Given the description of an element on the screen output the (x, y) to click on. 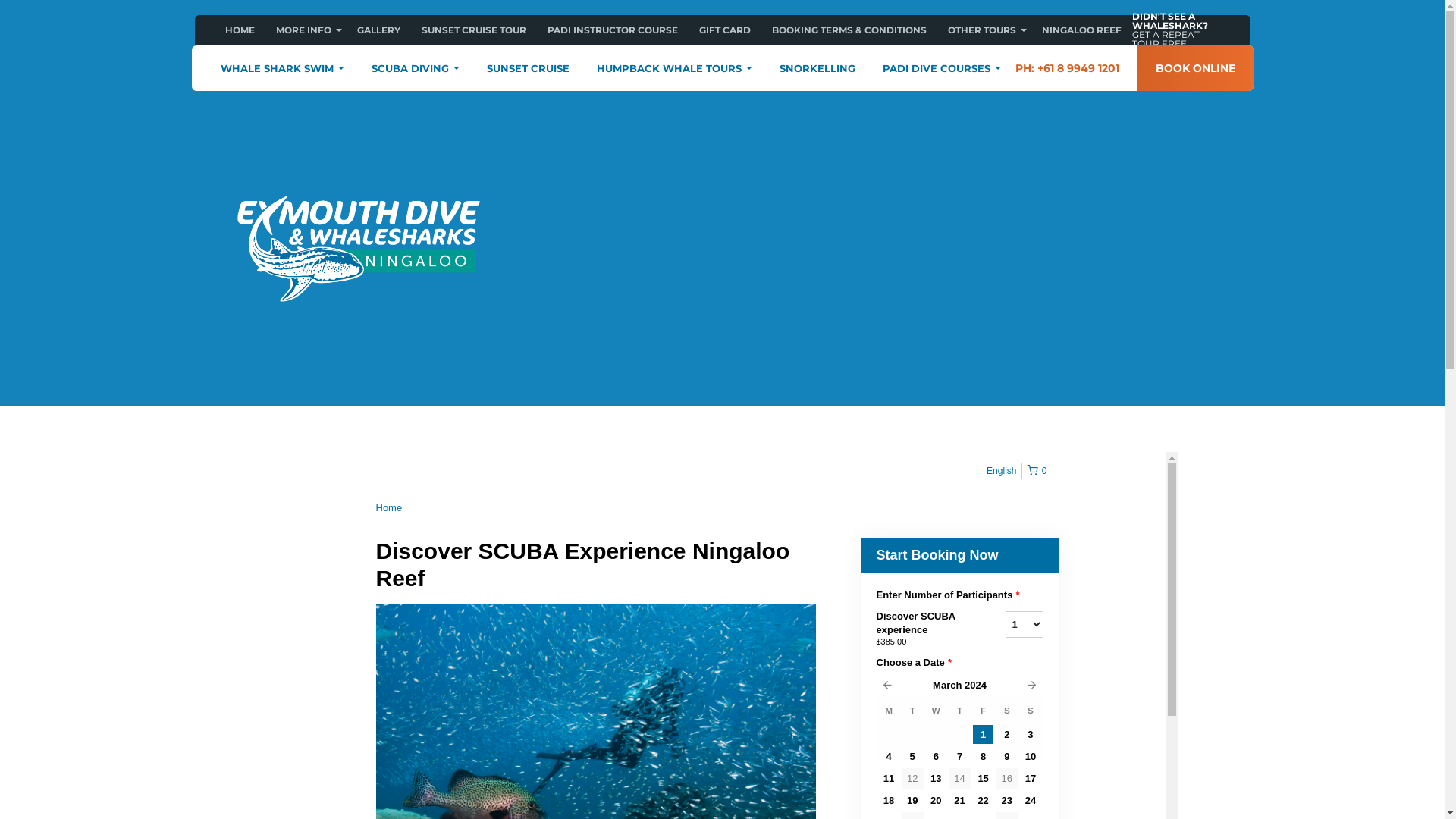
SUNSET CRUISE Element type: text (528, 68)
WHALE SHARK SWIM Element type: text (281, 68)
HOME Element type: text (238, 30)
SUNSET CRUISE TOUR Element type: text (473, 30)
SCUBA DIVING Element type: text (415, 68)
NINGALOO REEF Element type: text (1081, 30)
PADI INSTRUCTOR COURSE Element type: text (612, 30)
BOOKING TERMS & CONDITIONS Element type: text (849, 30)
PH: +61 8 9949 1201 Element type: text (1066, 68)
OTHER TOURS Element type: text (984, 30)
MORE INFO Element type: text (305, 30)
SNORKELLING Element type: text (817, 68)
PADI DIVE COURSES Element type: text (941, 68)
GALLERY Element type: text (377, 30)
GIFT CARD Element type: text (724, 30)
HUMPBACK WHALE TOURS Element type: text (673, 68)
BOOK ONLINE Element type: text (1195, 68)
